Given the description of an element on the screen output the (x, y) to click on. 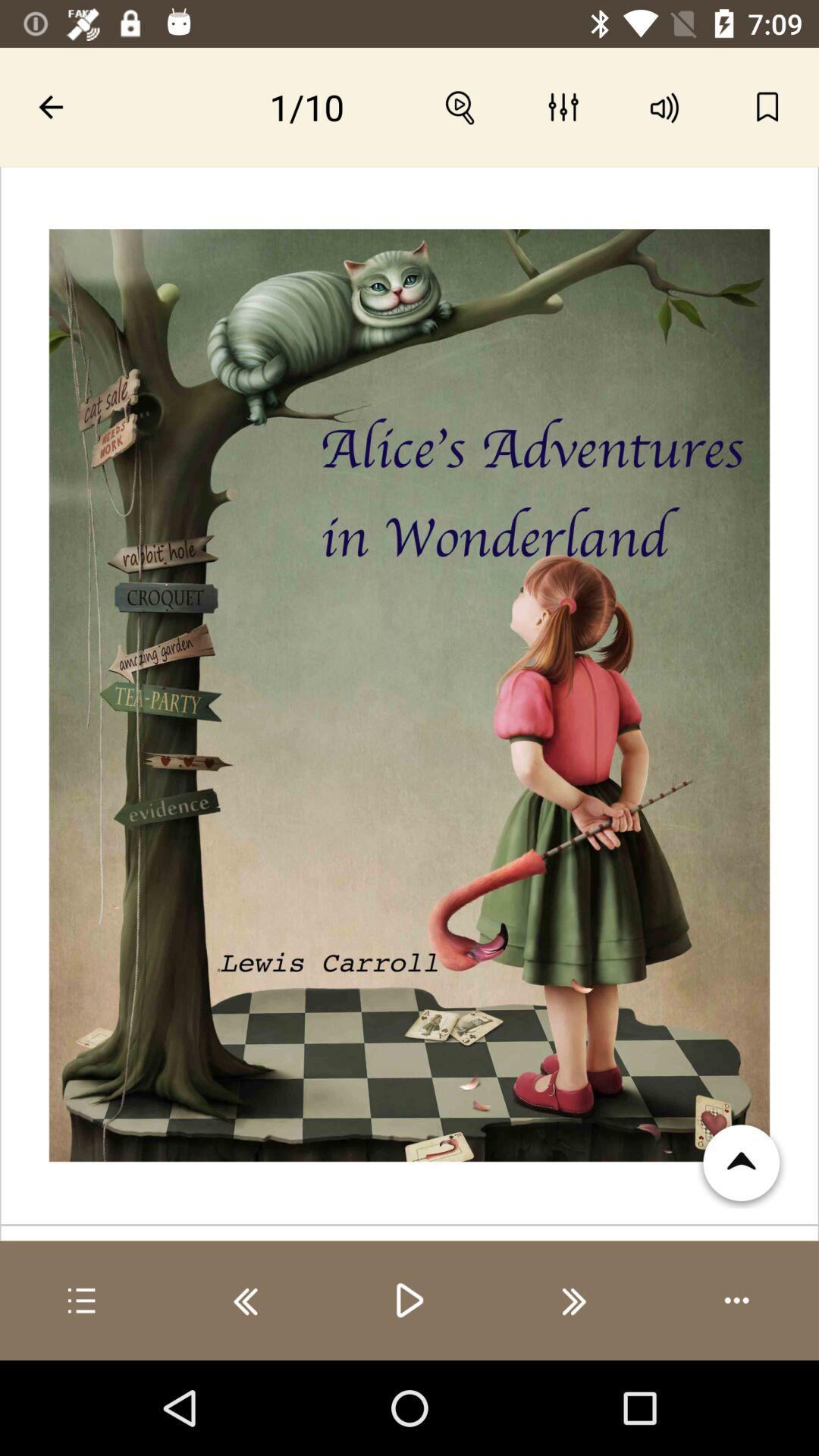
go forward (573, 1300)
